Given the description of an element on the screen output the (x, y) to click on. 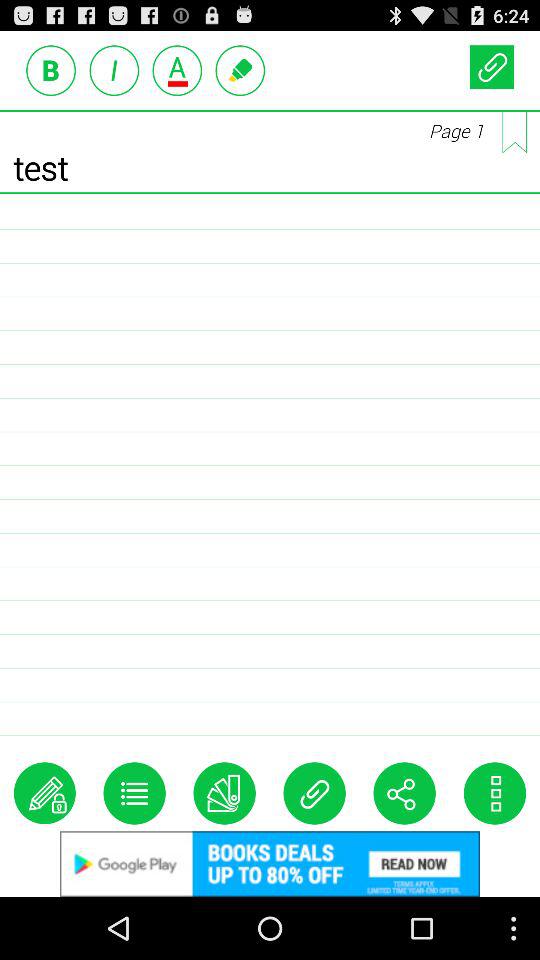
go to text (51, 70)
